Given the description of an element on the screen output the (x, y) to click on. 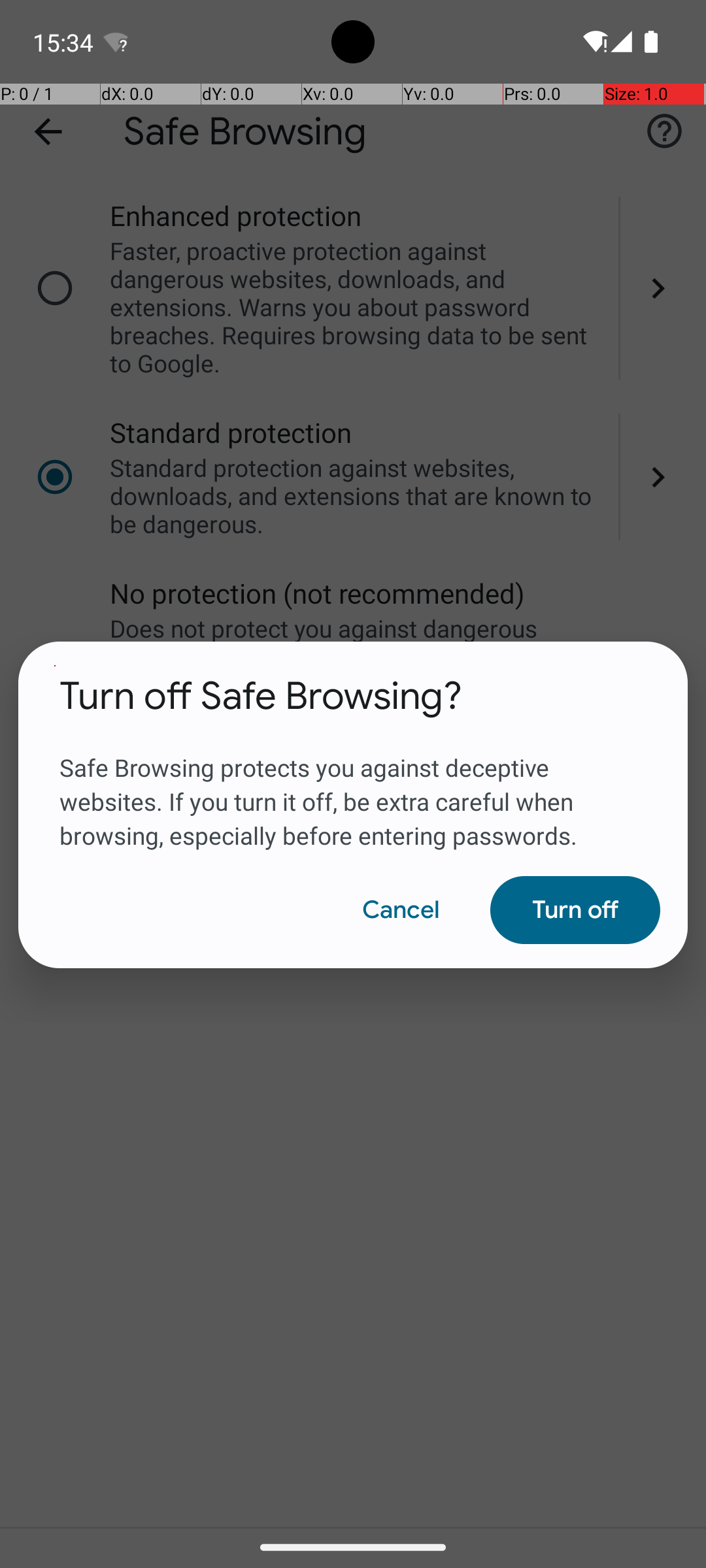
Turn off Safe Browsing? Element type: android.widget.TextView (260, 695)
Safe Browsing protects you against deceptive websites. If you turn it off, be extra careful when browsing, especially before entering passwords. Element type: android.widget.TextView (352, 785)
Turn off Element type: android.widget.Button (575, 909)
